Given the description of an element on the screen output the (x, y) to click on. 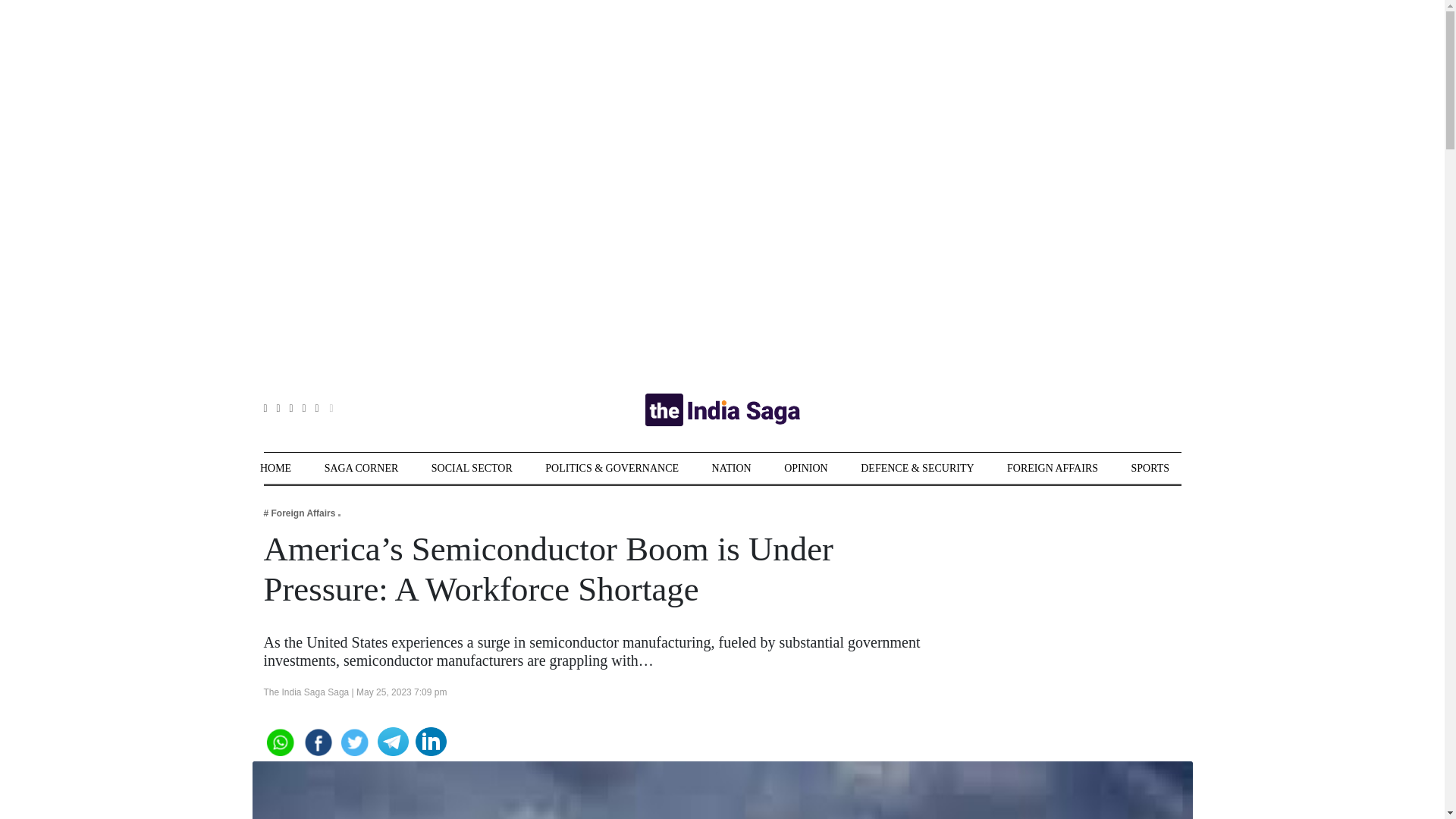
SPORTS (1150, 468)
SAGA CORNER (361, 468)
Share on Telegram (393, 740)
SOCIAL SECTOR (471, 468)
NATION (731, 468)
OPINION (806, 468)
FOREIGN AFFAIRS (1052, 468)
HOME (275, 468)
Share on WhatsApp (279, 740)
Share on Twitter (355, 740)
